Given the description of an element on the screen output the (x, y) to click on. 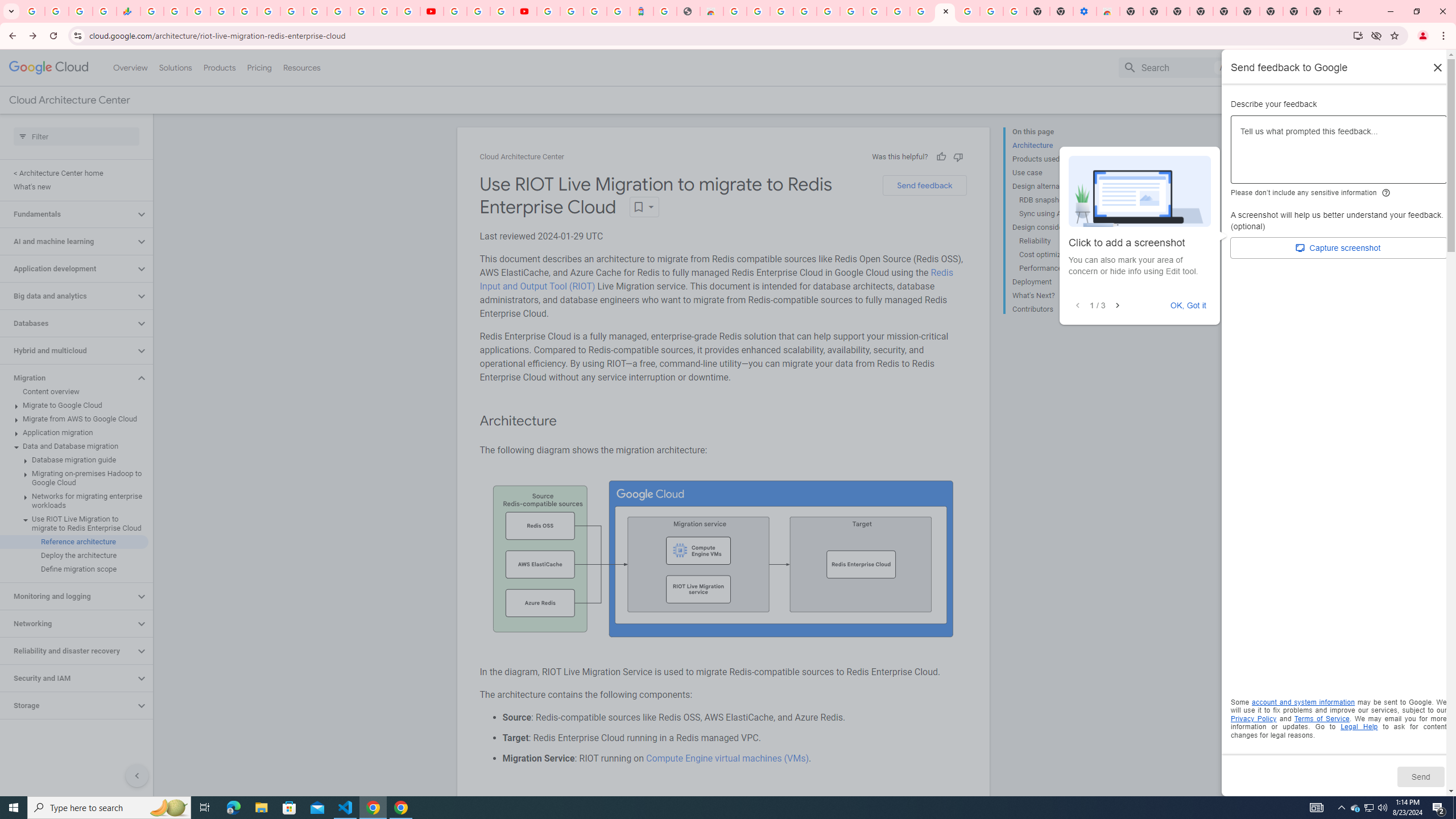
Products (218, 67)
Redis Input and Output Tool (RIOT) (716, 278)
Sign in - Google Accounts (338, 11)
Google Account Help (992, 11)
Settings - Accessibility (1085, 11)
Compute Engine virtual machines (VMs) (726, 758)
Helpful (940, 156)
Chrome Web Store - Accessibility extensions (1108, 11)
